Given the description of an element on the screen output the (x, y) to click on. 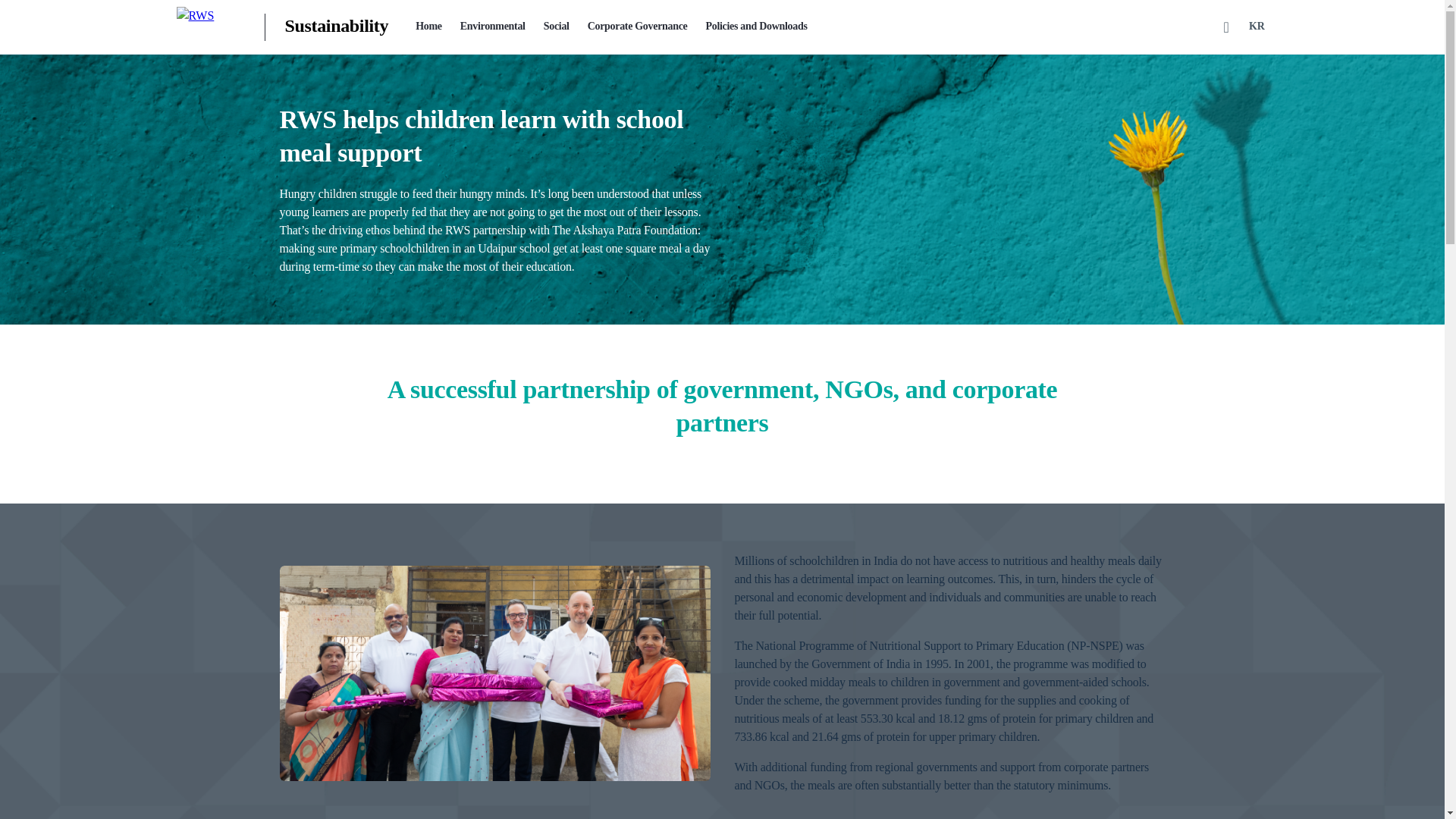
Corporate Governance (637, 27)
KR (1256, 27)
Environmental (492, 27)
Social (556, 27)
Policies and Downloads (756, 27)
Home (428, 27)
